Given the description of an element on the screen output the (x, y) to click on. 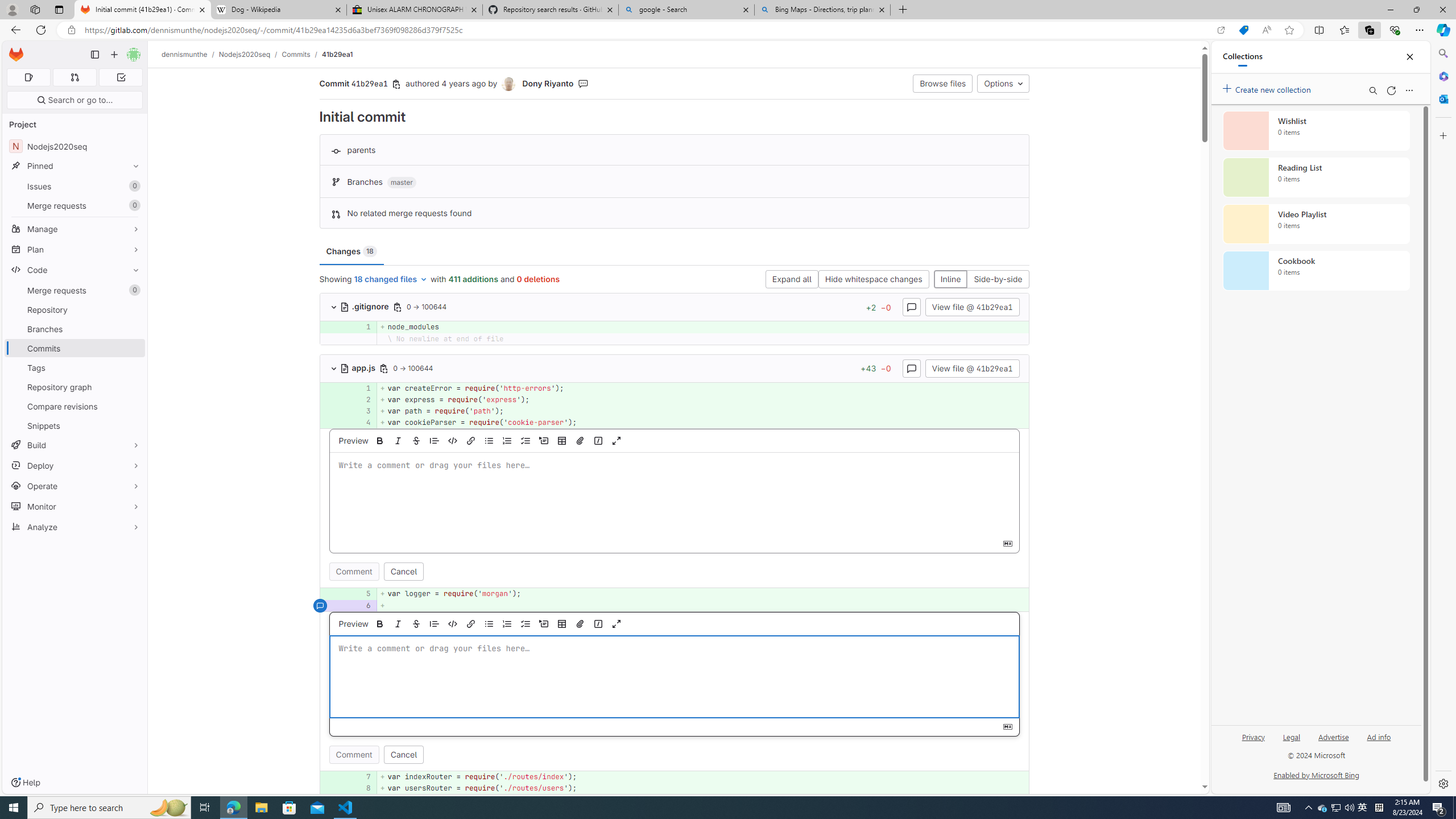
Cookbook collection, 0 items (1316, 270)
Inline (950, 279)
Reading List collection, 0 items (1316, 177)
Class: s16 chevron-down (333, 368)
Primary navigation sidebar (94, 54)
NNodejs2020seq (74, 145)
Build (74, 444)
Copy commit SHA (396, 83)
Pinned (74, 165)
Analyze (74, 526)
